Given the description of an element on the screen output the (x, y) to click on. 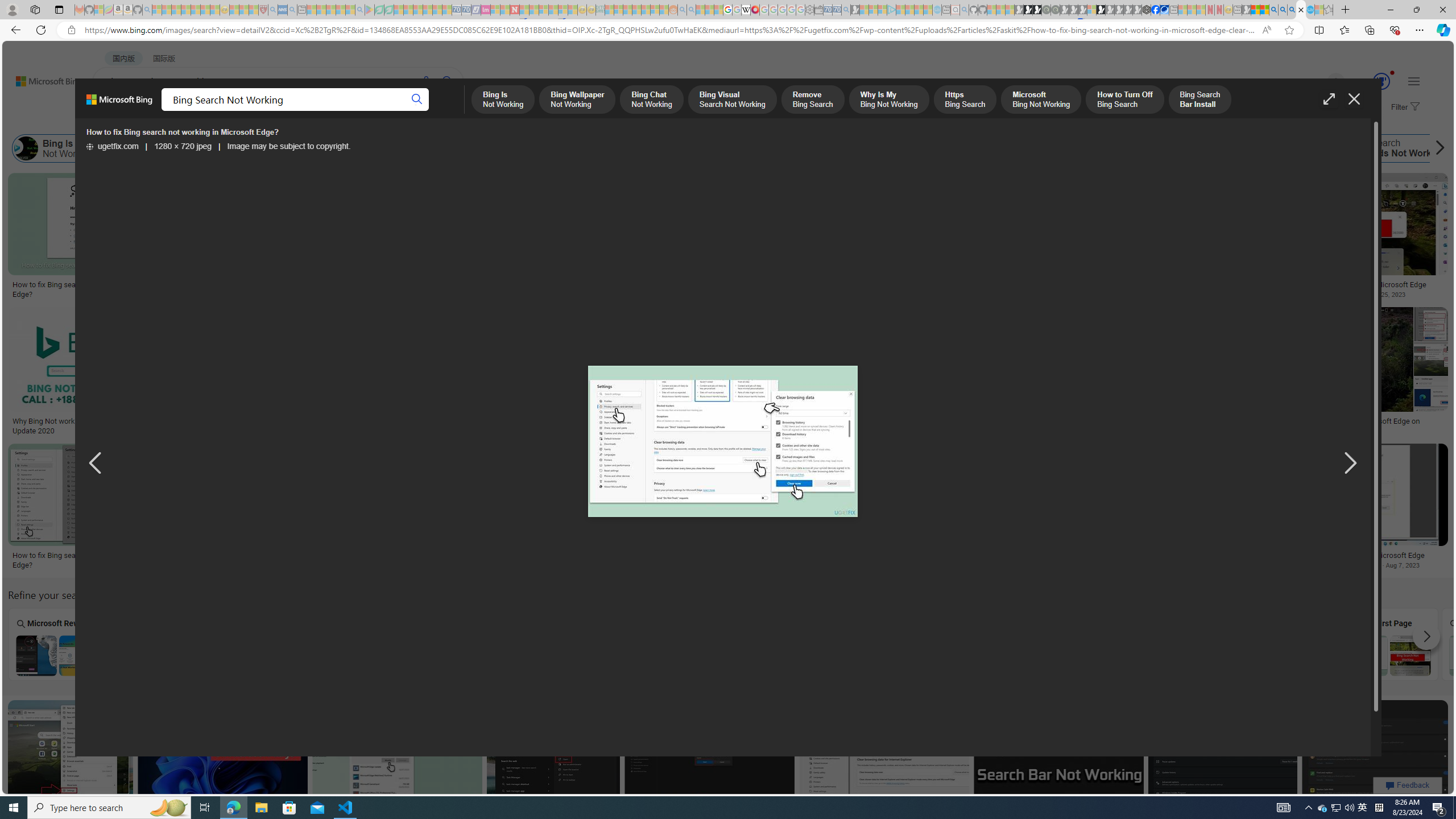
Jobs - lastminute.com Investor Portal - Sleeping (485, 9)
Web For (671, 643)
google - Search - Sleeping (359, 9)
ACADEMIC (360, 111)
Bing Not Working Properly (1092, 148)
Bing Work Search Not Working (1285, 655)
Services - Maintenance | Sky Blue Bikes - Sky Blue Bikes (1309, 9)
